Given the description of an element on the screen output the (x, y) to click on. 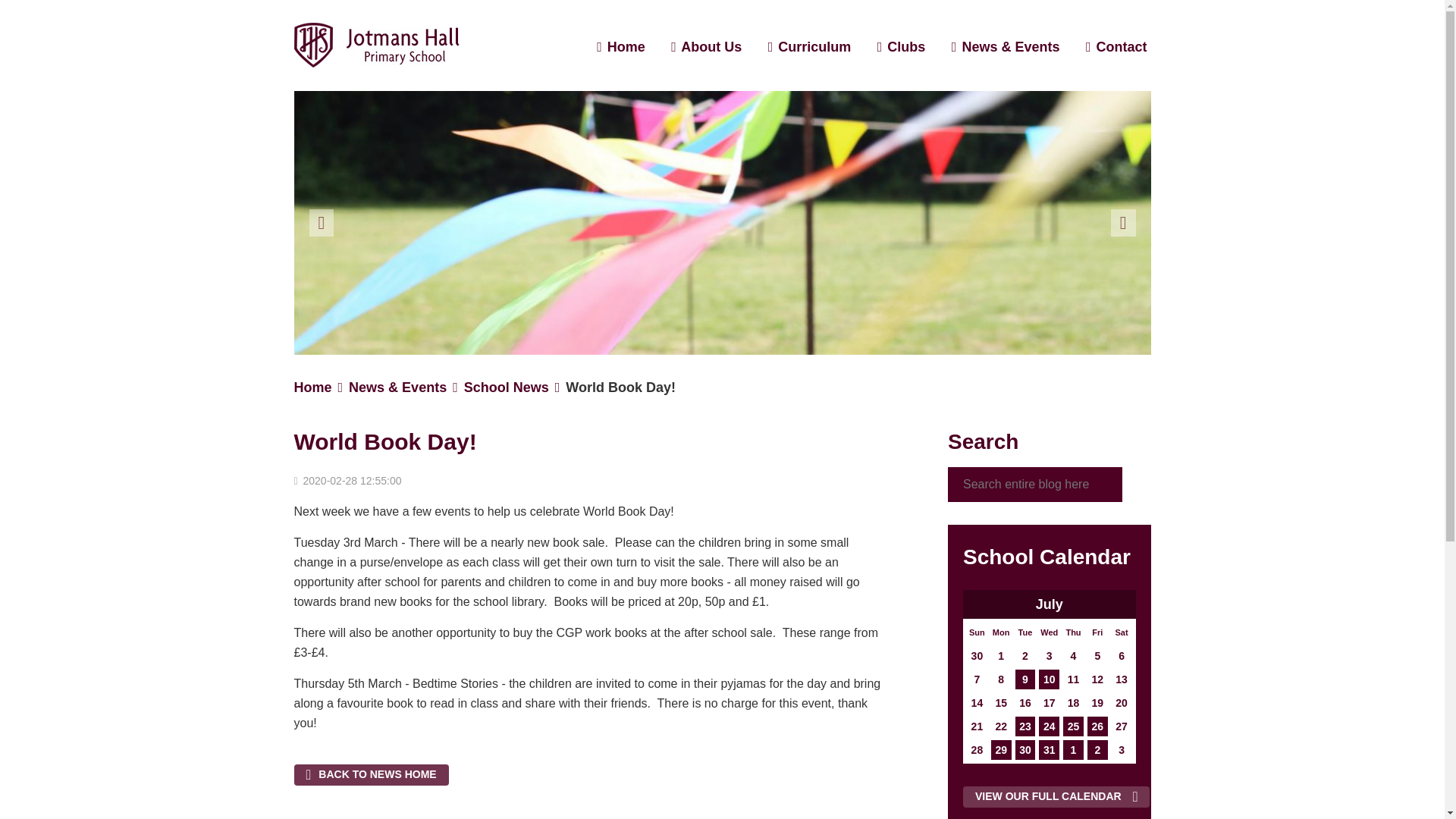
Contact (1121, 46)
BACK TO NEWS HOME (371, 774)
Clubs (905, 46)
Home (312, 387)
About Us (711, 46)
Home (626, 46)
World Book Day! (620, 387)
Curriculum (813, 46)
School News (506, 387)
VIEW OUR FULL CALENDAR (1056, 796)
